Given the description of an element on the screen output the (x, y) to click on. 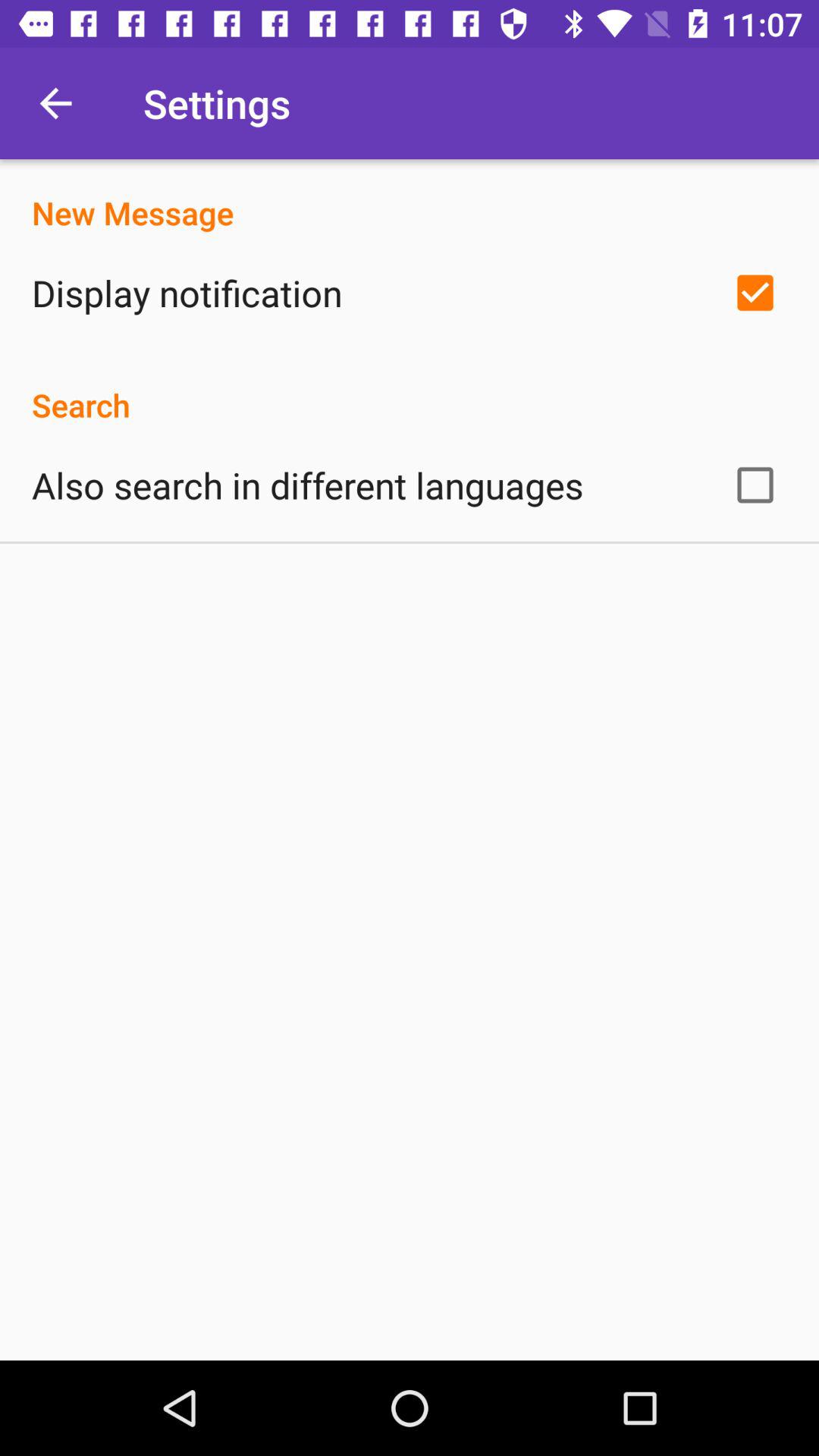
tap the item above the new message item (55, 103)
